Given the description of an element on the screen output the (x, y) to click on. 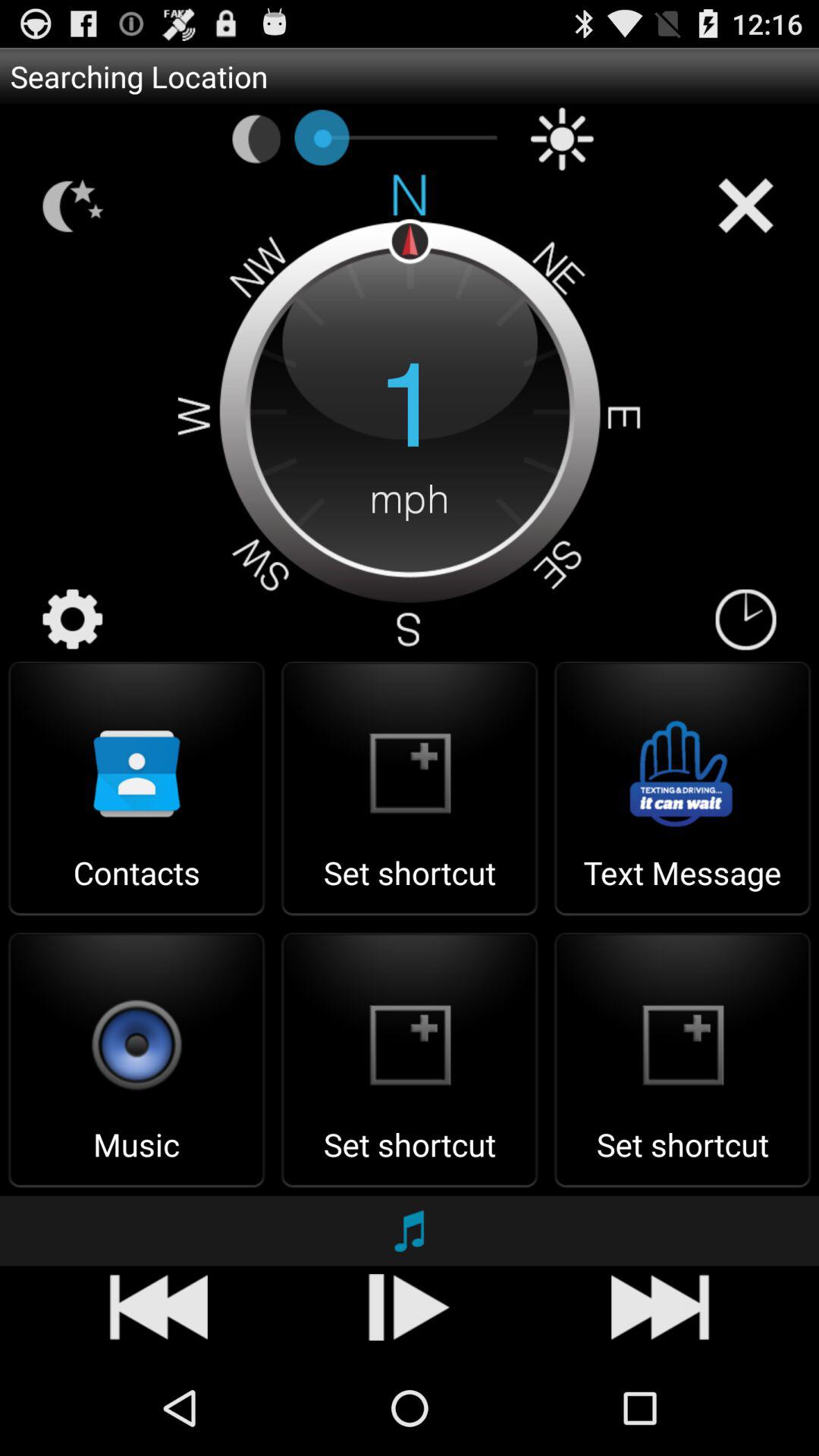
open the text message item (682, 887)
